Given the description of an element on the screen output the (x, y) to click on. 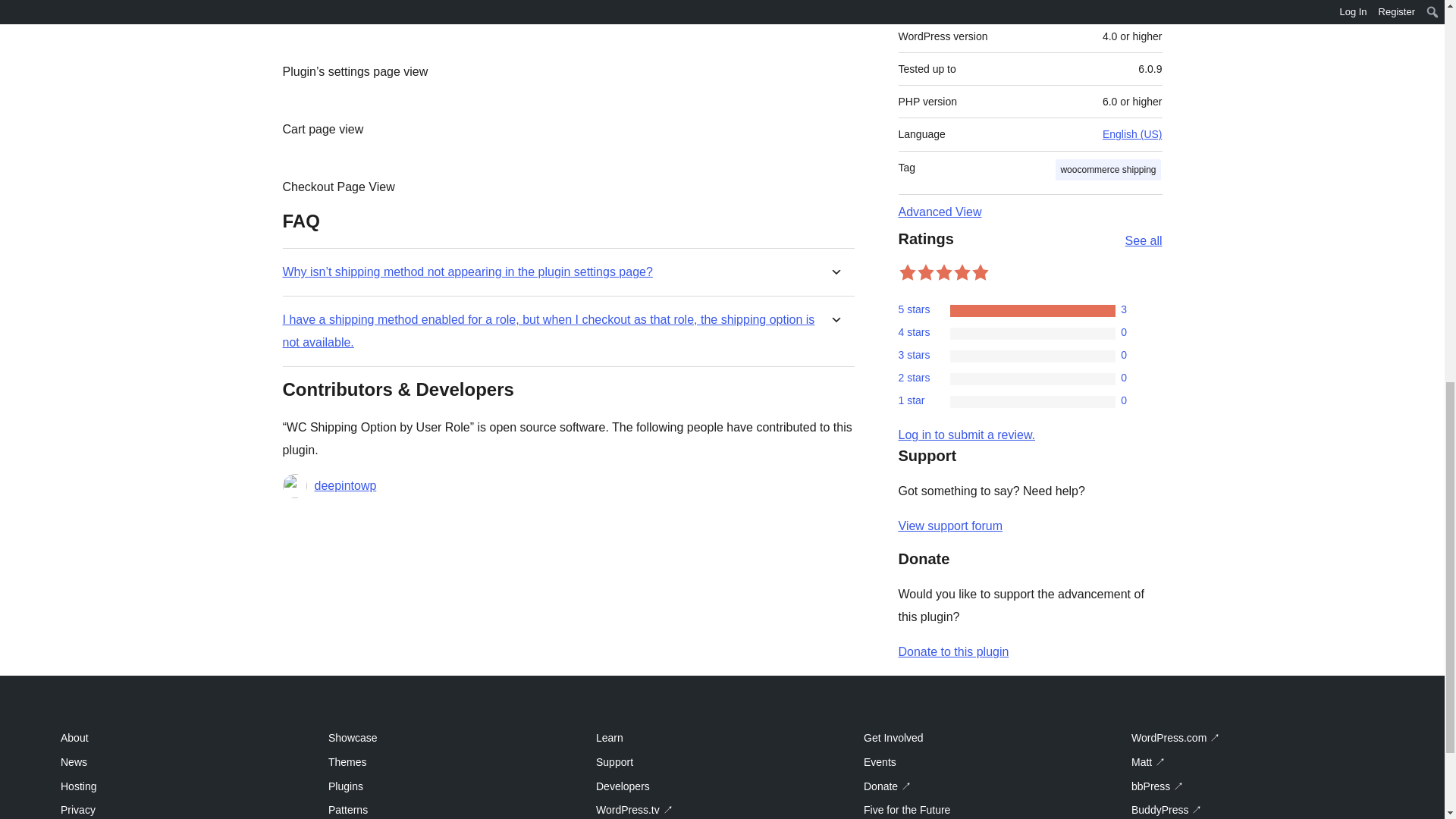
Log in to WordPress.org (966, 434)
